Given the description of an element on the screen output the (x, y) to click on. 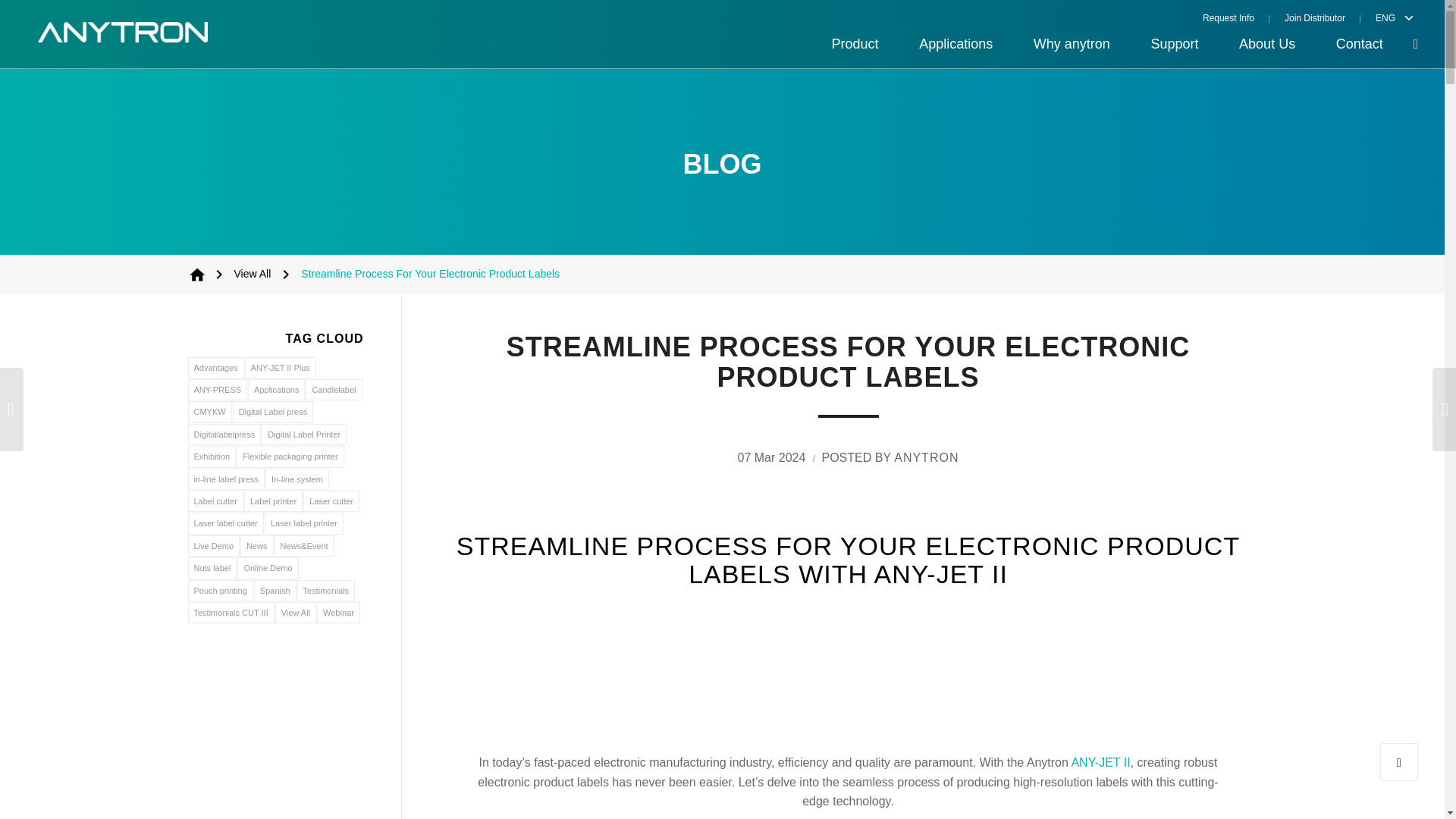
Request Info (1235, 17)
ENG (1381, 17)
Scroll to top (1399, 761)
Product (855, 44)
Join Distributor (1314, 17)
Applications (955, 44)
Anytron - Digital Print Pro (196, 274)
